Given the description of an element on the screen output the (x, y) to click on. 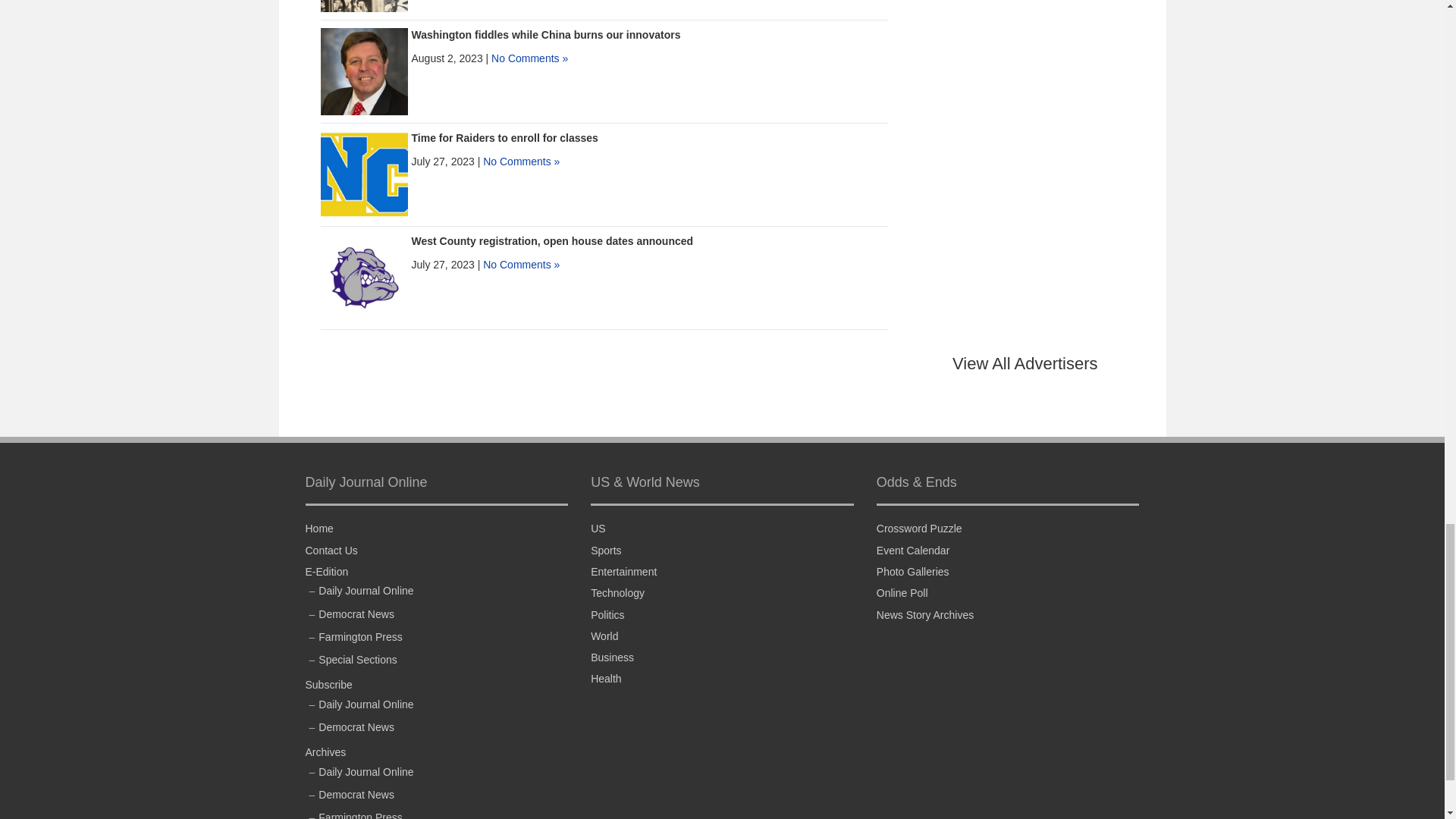
Time for Raiders to enroll for classes (363, 173)
Time for Raiders to enroll for classes (503, 137)
Washington fiddles while China burns our innovators (544, 34)
West County registration, open house dates announced (551, 241)
West County registration, open house dates announced (363, 276)
Washington fiddles while China burns our innovators (363, 70)
